Given the description of an element on the screen output the (x, y) to click on. 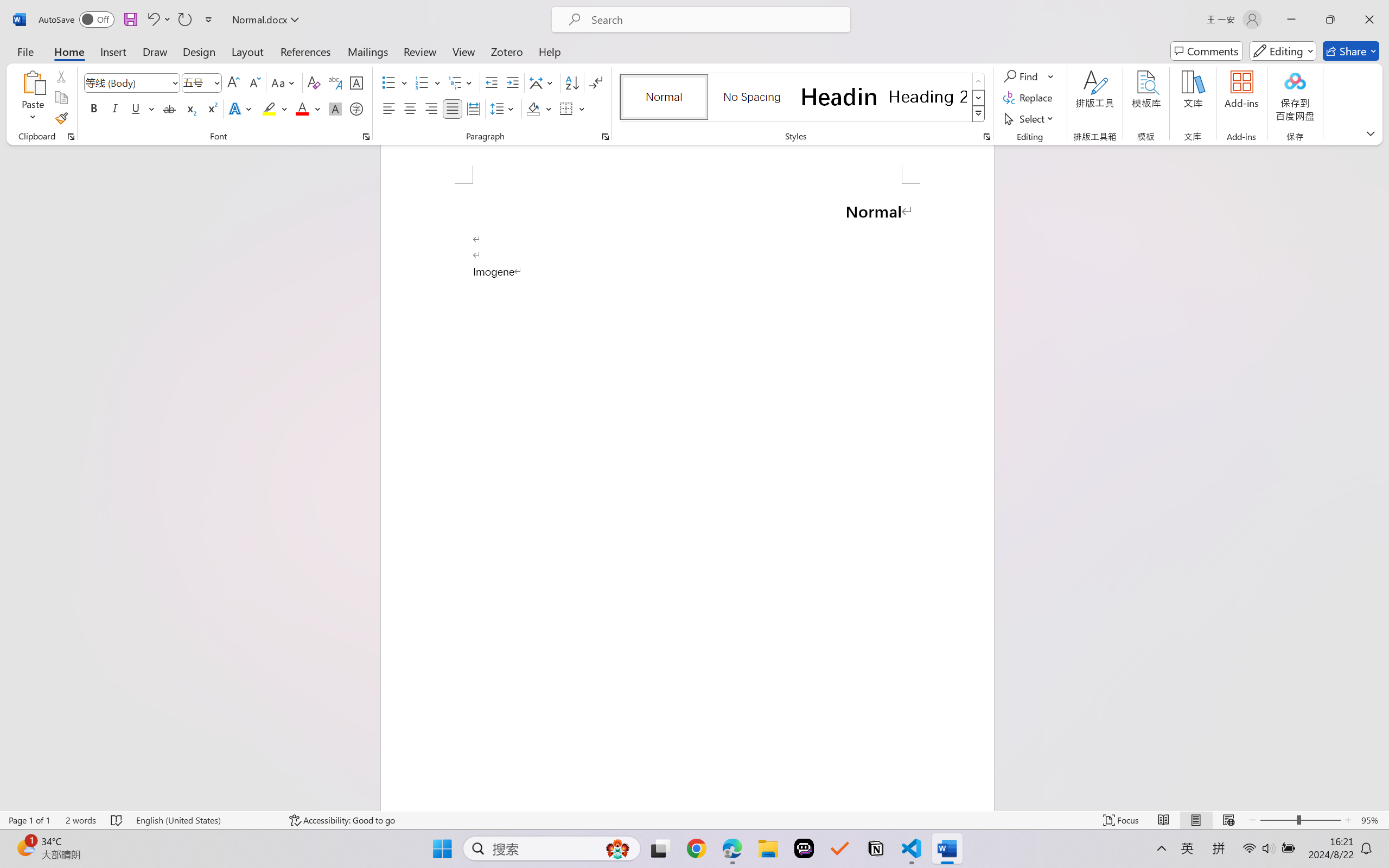
Heading 2 (927, 96)
Undo Style (158, 19)
